Given the description of an element on the screen output the (x, y) to click on. 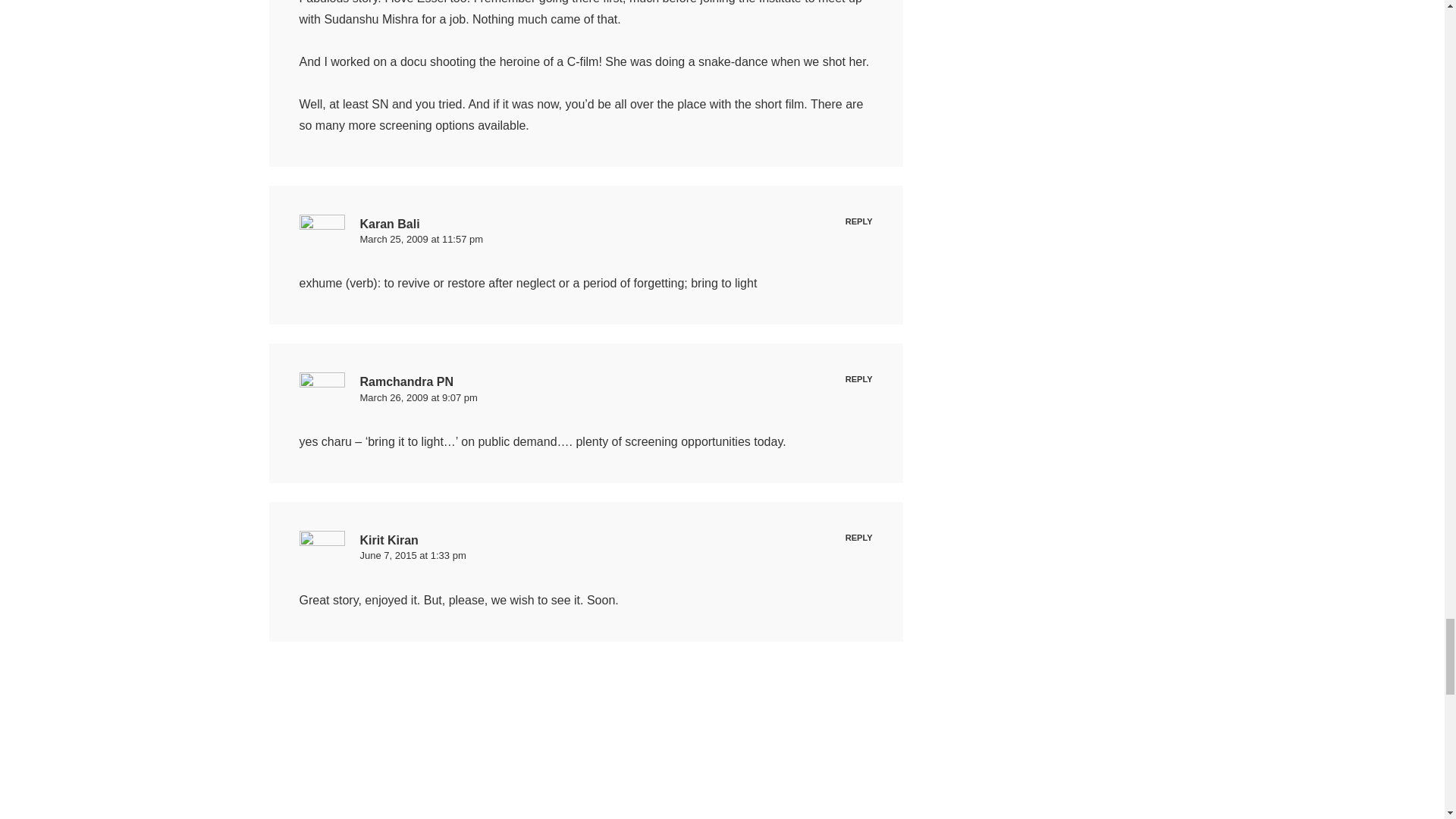
Ramchandra PN (405, 381)
REPLY (858, 221)
March 26, 2009 at 9:07 pm (418, 397)
March 25, 2009 at 11:57 pm (421, 238)
